Given the description of an element on the screen output the (x, y) to click on. 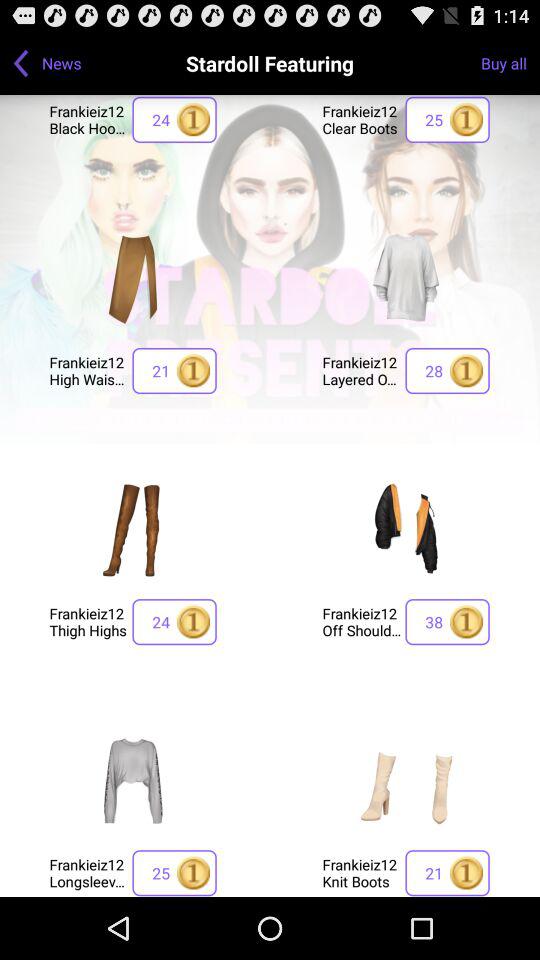
view this item (406, 277)
